Given the description of an element on the screen output the (x, y) to click on. 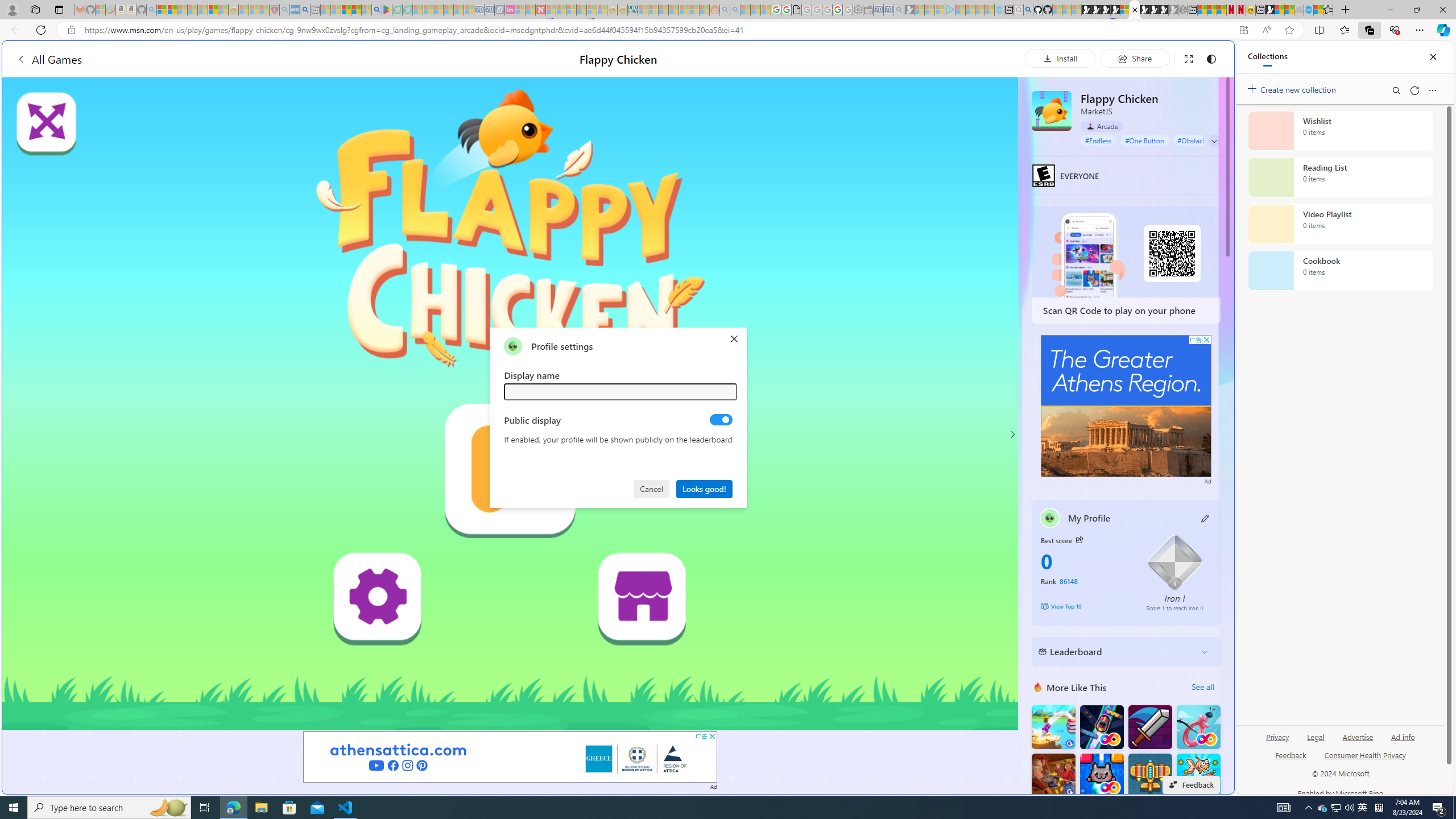
Atlantic Sky Hunter (1149, 775)
See all (1202, 687)
Sign in to your account (1124, 9)
Advertisement (1126, 405)
Class: button edit-icon (1205, 517)
""'s avatar (512, 345)
